Given the description of an element on the screen output the (x, y) to click on. 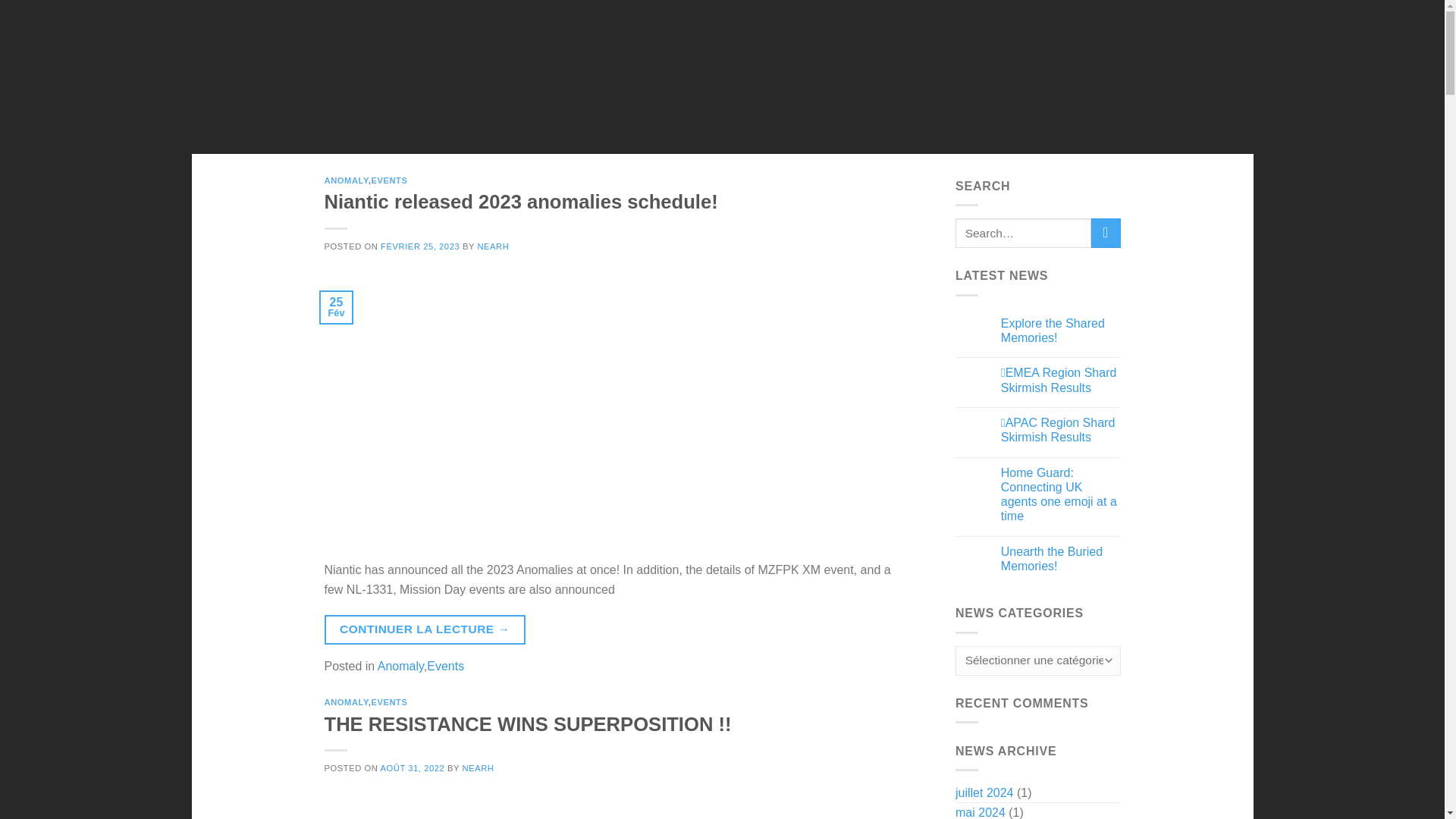
ANOMALY (346, 180)
Nous suivre sur Facebook (987, 126)
THE RESISTANCE WINS SUPERPOSITION !! (528, 722)
ANOMALY (346, 701)
NEWS (479, 126)
EVENTS (531, 126)
Niantic released 2023 anomalies schedule! (520, 201)
Events (445, 666)
Nous suivre sur Twitter (1047, 126)
EVENTS (389, 701)
Nous suivre sur Instagram (1017, 126)
Anomaly (400, 666)
NEARH (492, 245)
RGNN (708, 126)
